Given the description of an element on the screen output the (x, y) to click on. 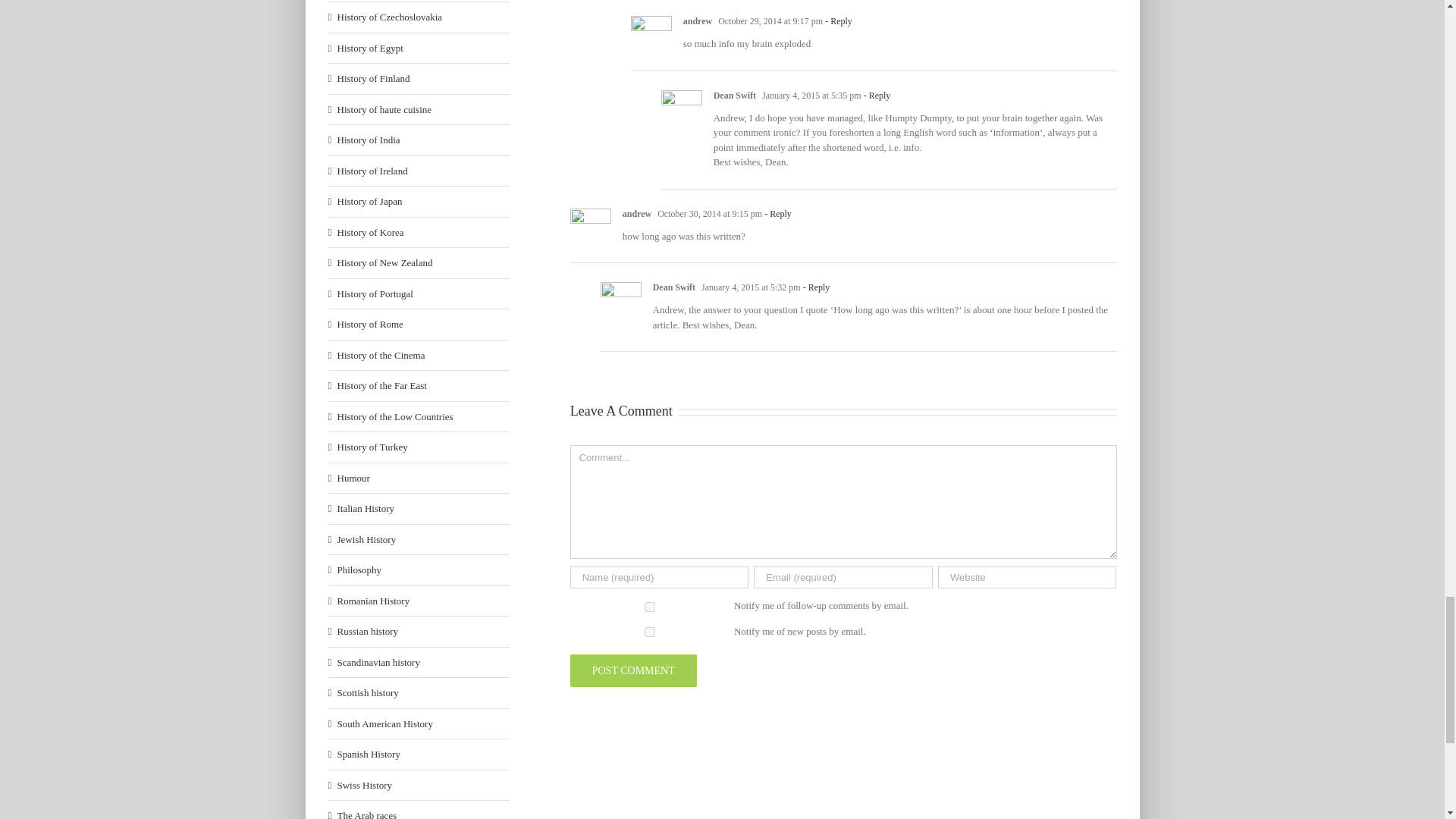
subscribe (649, 606)
subscribe (649, 632)
Post Comment (633, 670)
